Given the description of an element on the screen output the (x, y) to click on. 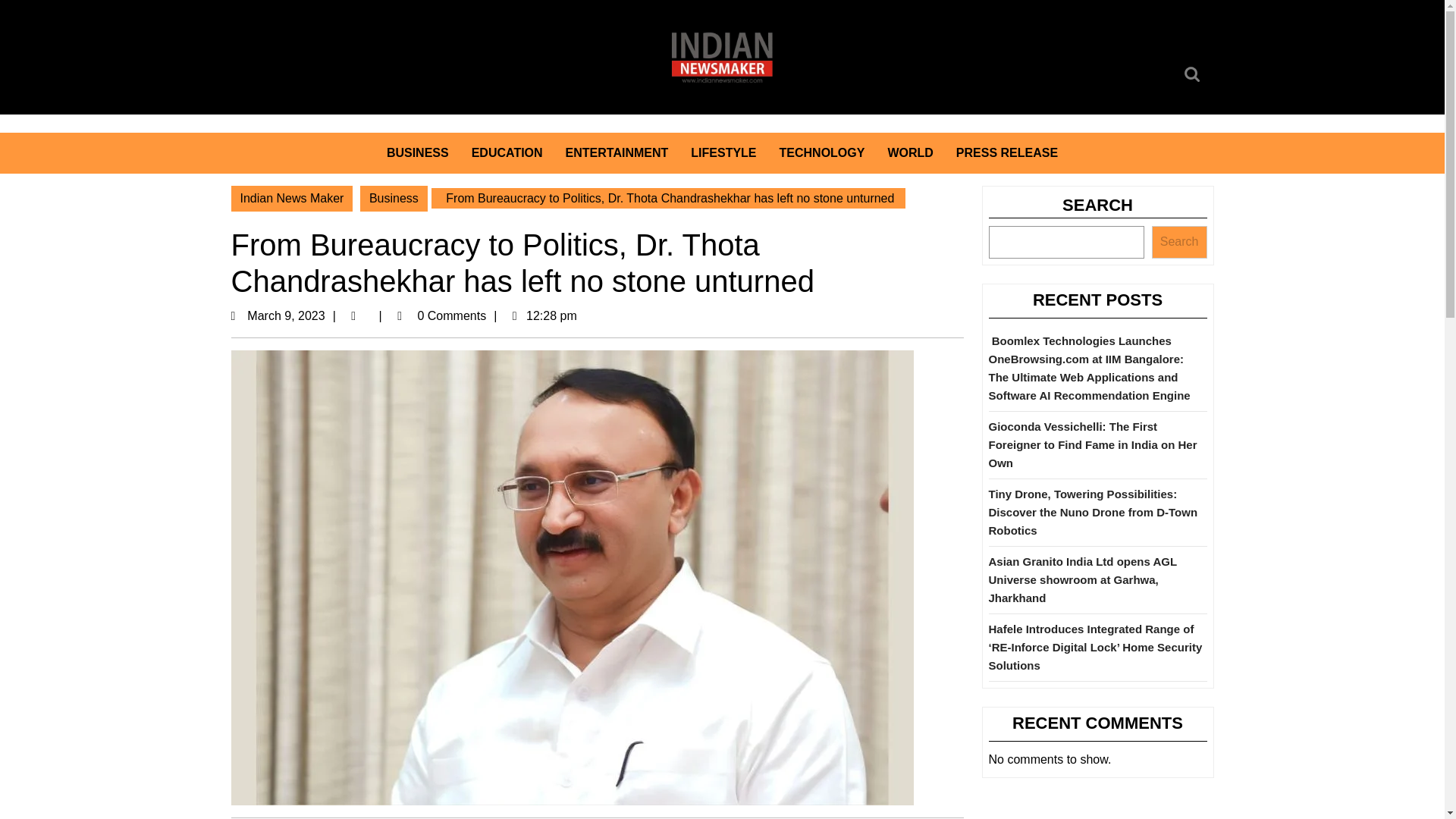
Business (294, 315)
Search (393, 198)
Search (1193, 73)
WORLD (1193, 73)
Indian News Maker (909, 152)
Search (291, 198)
Search (1193, 73)
LIFESTYLE (1179, 242)
PRESS RELEASE (723, 152)
ENTERTAINMENT (1006, 152)
EDUCATION (616, 152)
TECHNOLOGY (507, 152)
